Given the description of an element on the screen output the (x, y) to click on. 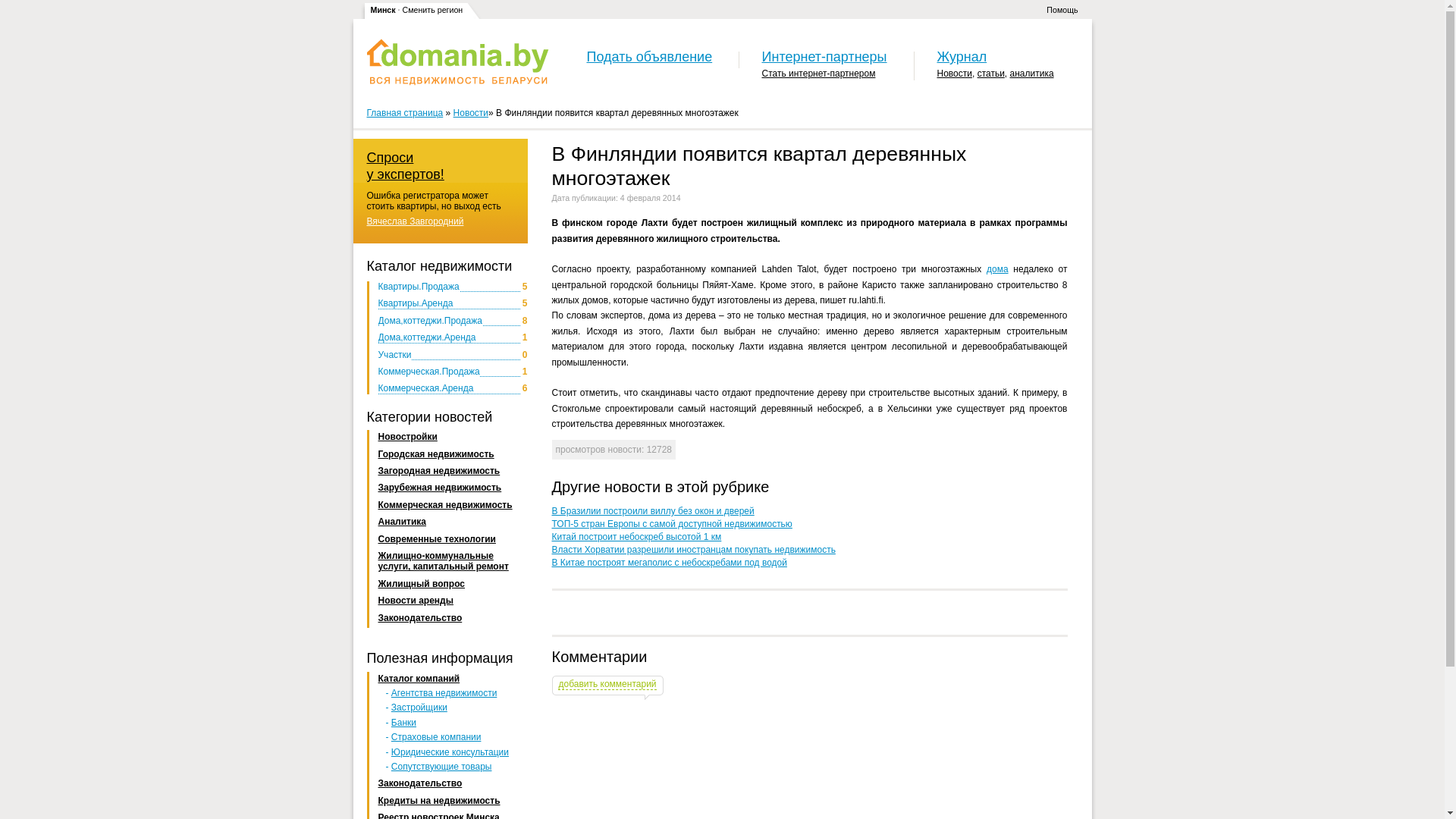
www.domania.by Element type: hover (458, 61)
